Given the description of an element on the screen output the (x, y) to click on. 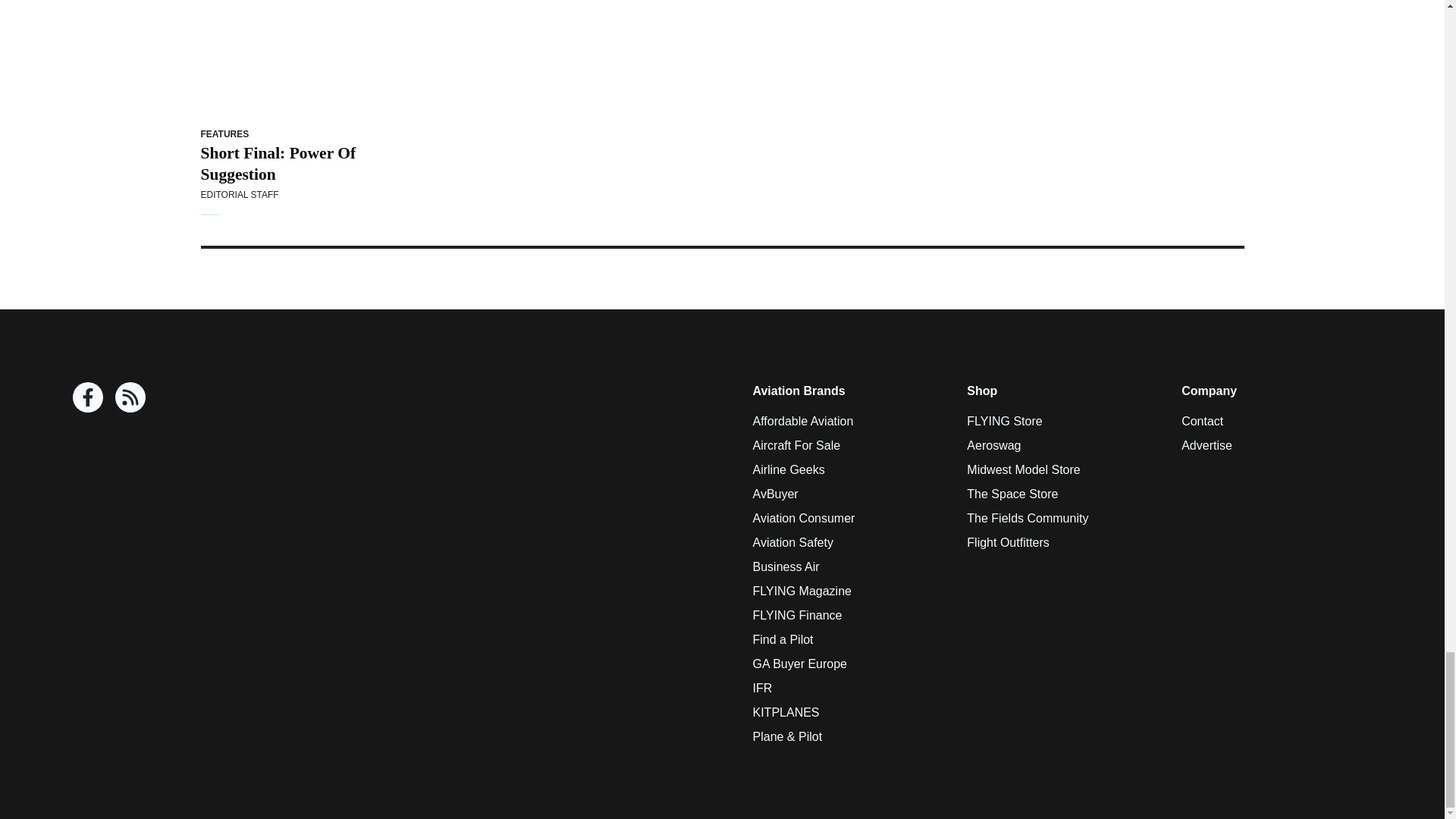
Rss (130, 397)
Facebook (87, 397)
Short Final: Power Of Suggestion (297, 58)
